Given the description of an element on the screen output the (x, y) to click on. 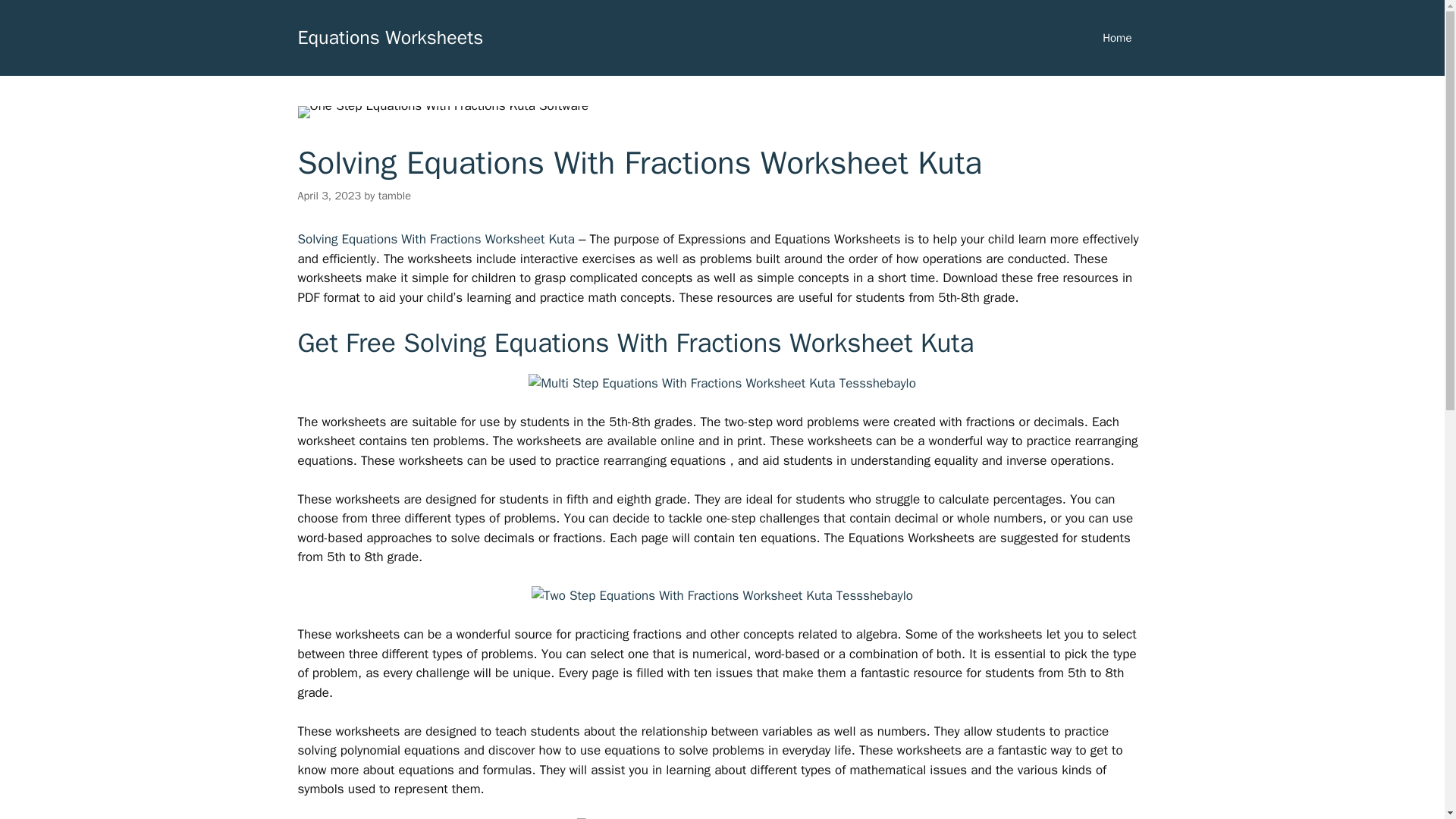
Home (1117, 37)
Solving Equations With Fractions Worksheet Kuta (437, 238)
tamble (394, 195)
View all posts by tamble (394, 195)
Equations Worksheets (390, 37)
